Given the description of an element on the screen output the (x, y) to click on. 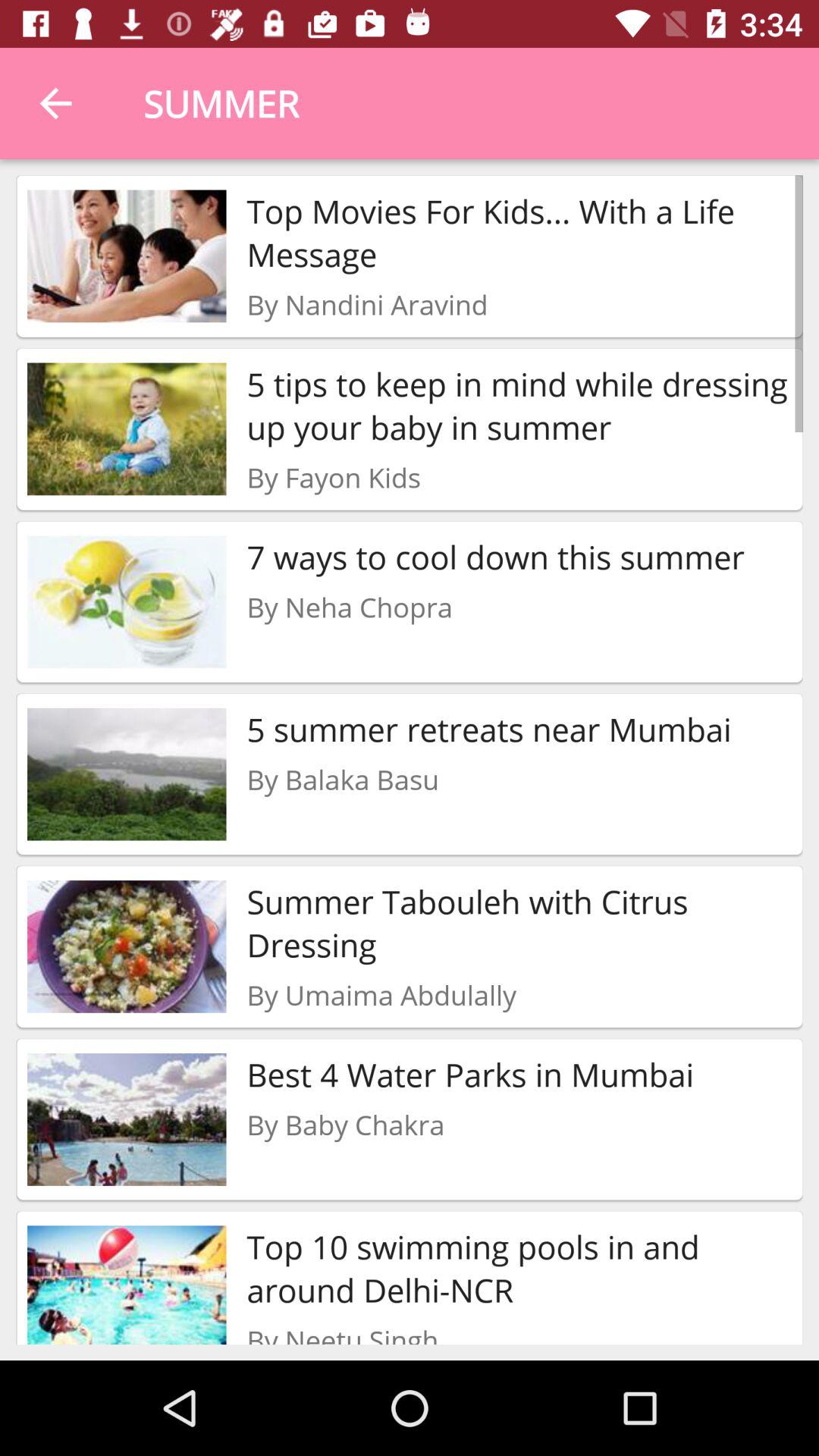
tap the by fayon kids item (333, 476)
